Given the description of an element on the screen output the (x, y) to click on. 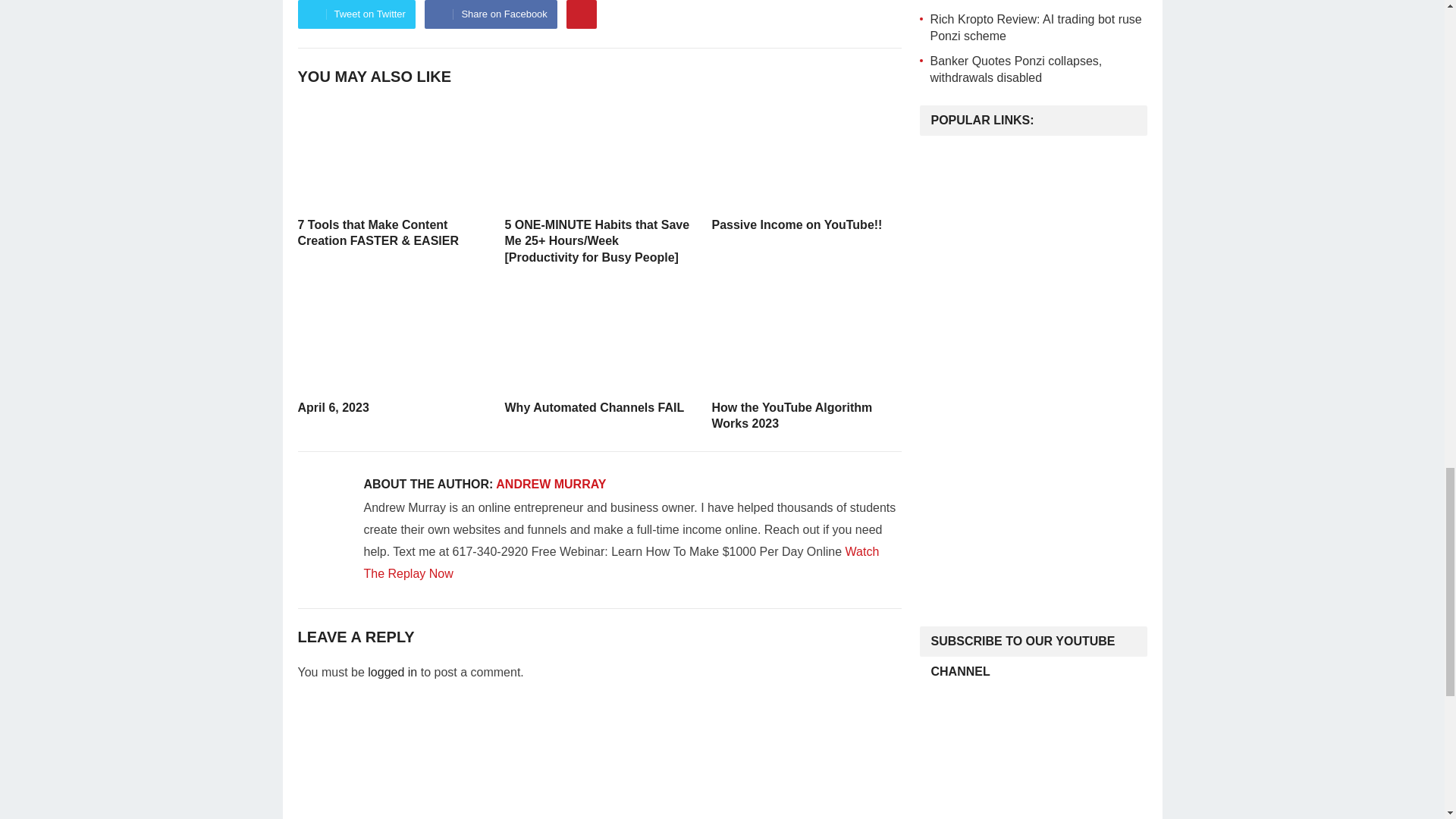
How the YouTube Algorithm Works 2023 14 (805, 337)
April 6, 2023 10 (391, 337)
Why Automated Channels FAIL 12 (599, 337)
Passive Income on YouTube!! 8 (805, 155)
